Given the description of an element on the screen output the (x, y) to click on. 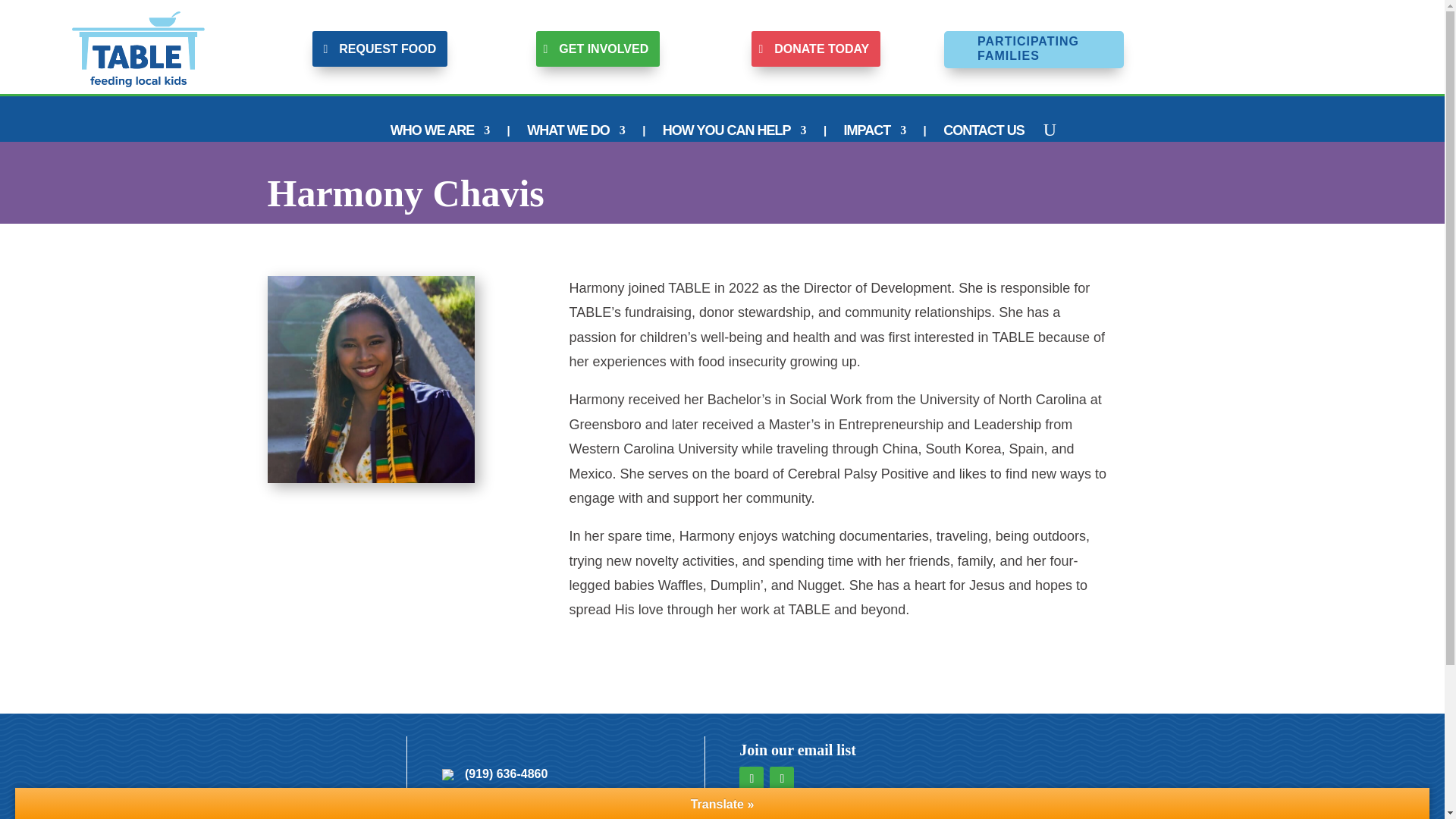
GET INVOLVED (597, 48)
DONATE TODAY (815, 48)
CONTACT US (984, 133)
Follow on Instagram (781, 778)
WHAT WE DO (575, 133)
IMPACT (874, 133)
HOW YOU CAN HELP (734, 133)
Follow on Facebook (750, 778)
REQUEST FOOD (379, 48)
WHO WE ARE (439, 133)
